Given the description of an element on the screen output the (x, y) to click on. 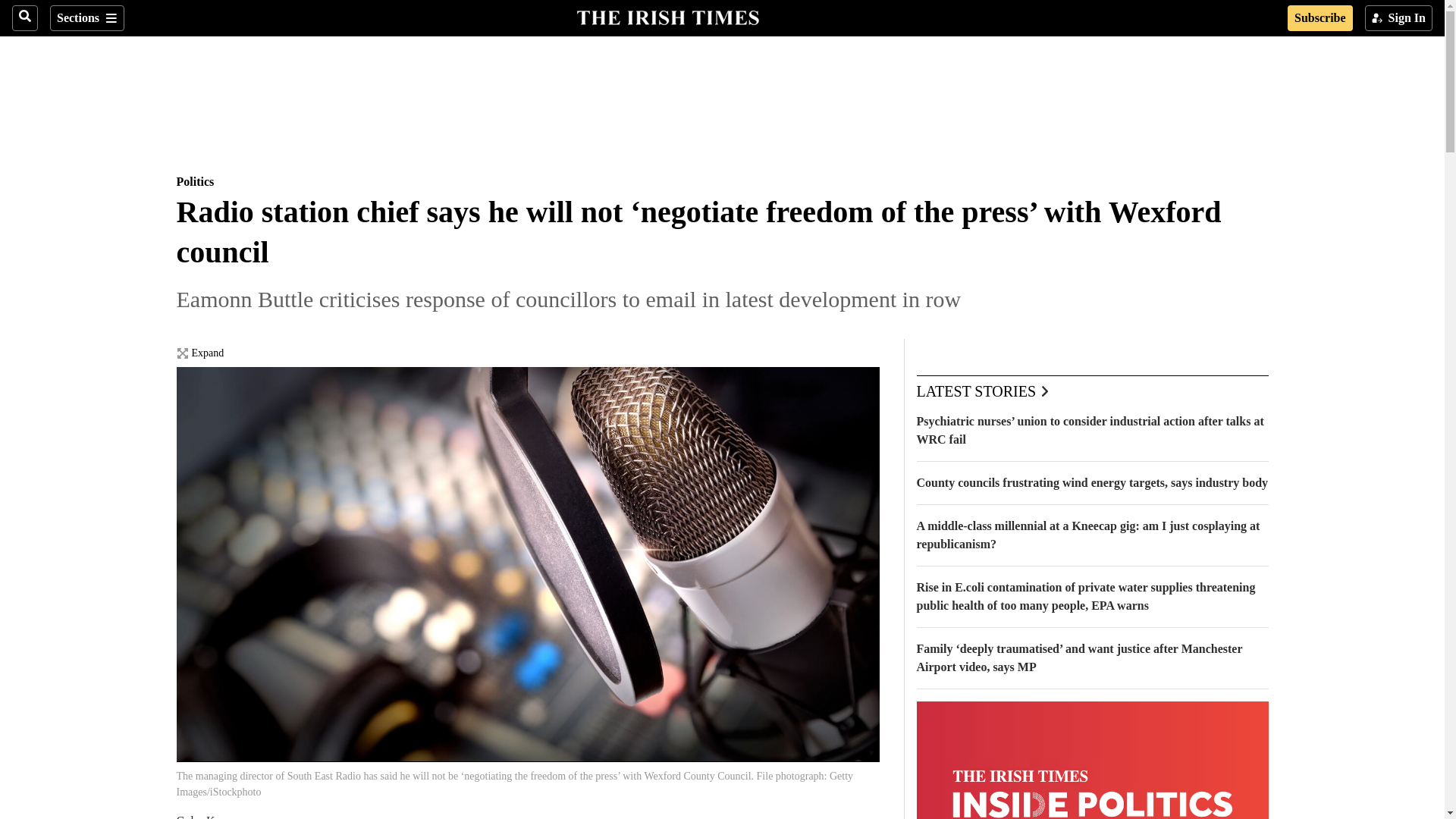
Sections (86, 17)
Subscribe (1319, 17)
Sign In (1398, 17)
The Irish Times (667, 16)
